Given the description of an element on the screen output the (x, y) to click on. 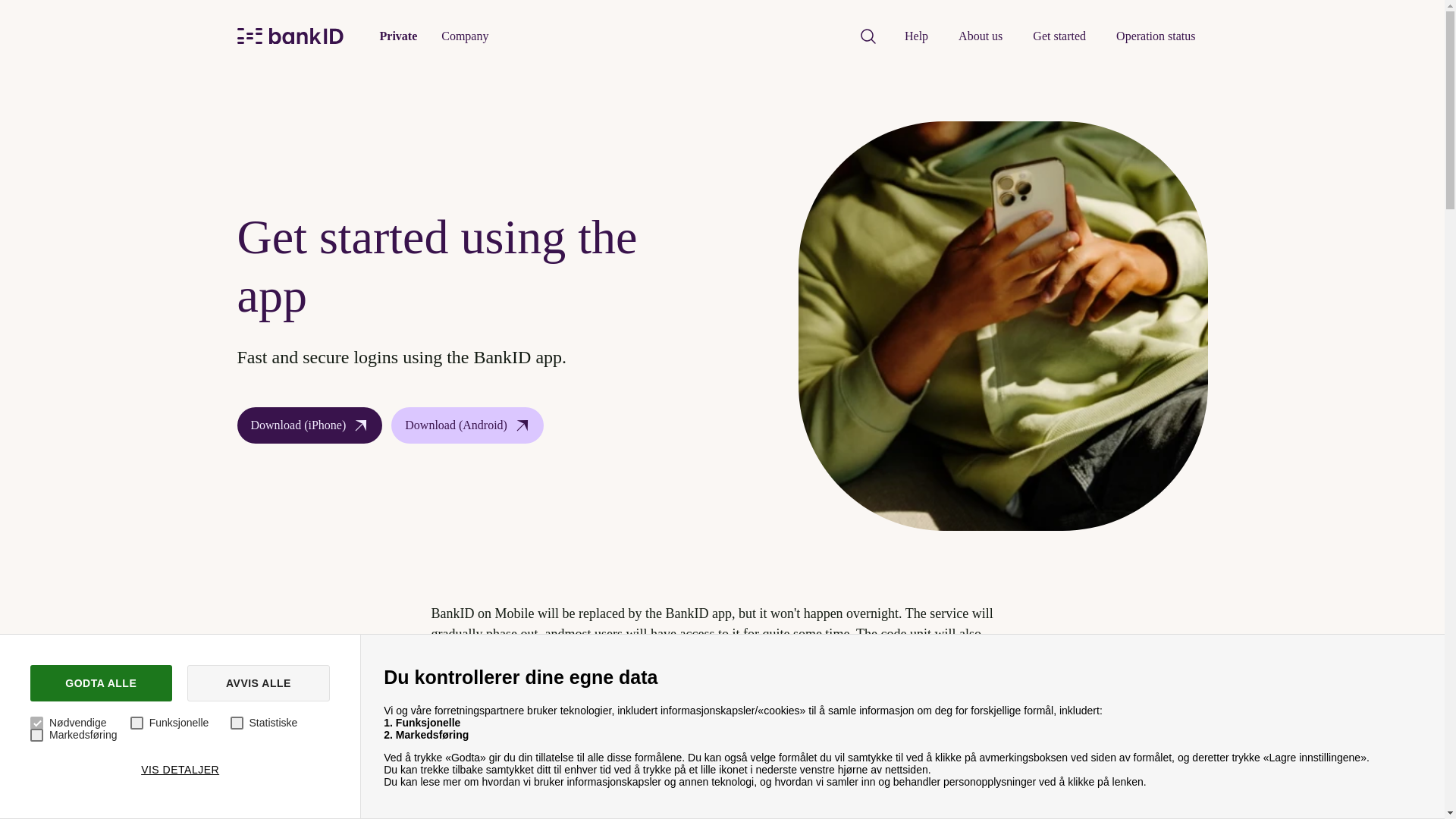
VIS DETALJER (179, 768)
GODTA ALLE (100, 683)
AVVIS ALLE (258, 683)
